Given the description of an element on the screen output the (x, y) to click on. 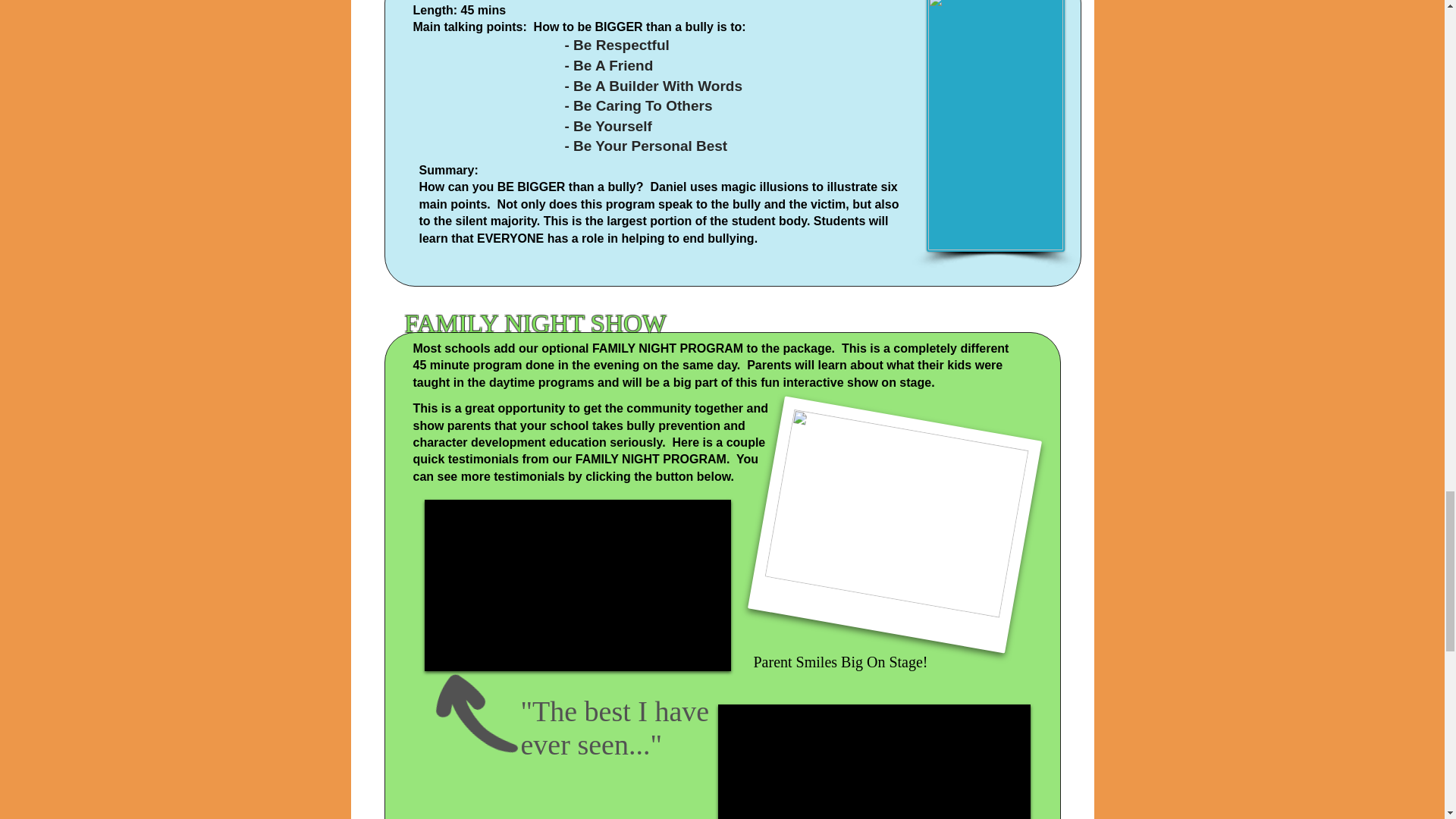
External YouTube (873, 761)
External YouTube (577, 584)
